Given the description of an element on the screen output the (x, y) to click on. 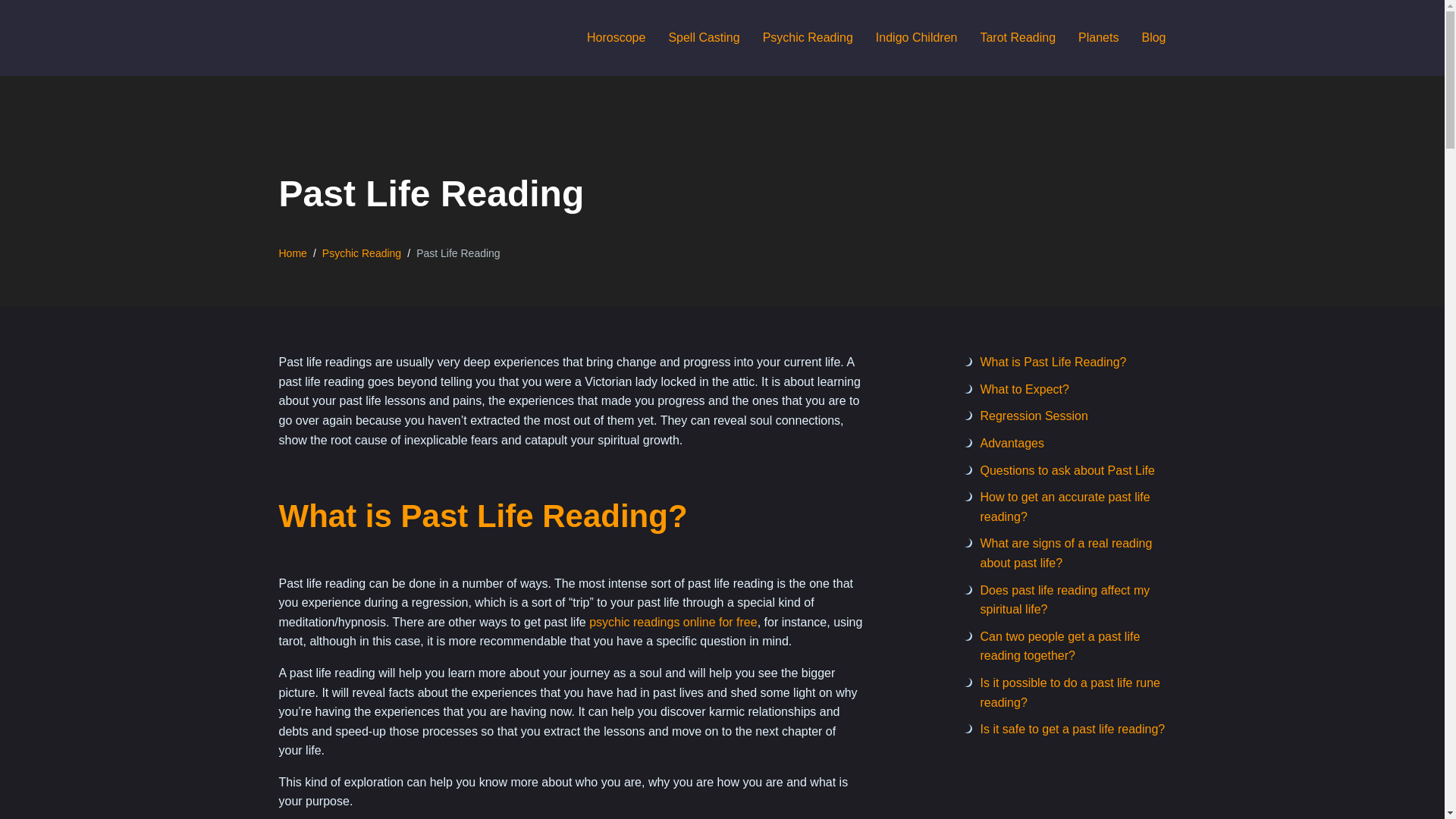
Advantages (1011, 442)
Is it possible to do a past life rune reading? (1068, 692)
Indigo Children (917, 37)
Tarot Reading (1017, 37)
Planets (1098, 37)
What are signs of a real reading about past life? (1065, 553)
Psychic Reading (361, 253)
Spell Casting (703, 37)
Blog (1153, 37)
Horoscope (615, 37)
What is Past Life Reading? (1052, 361)
Can two people get a past life reading together? (1059, 645)
How to get an accurate past life reading? (1064, 506)
Psychic Reading (807, 37)
What to Expect? (1023, 389)
